Given the description of an element on the screen output the (x, y) to click on. 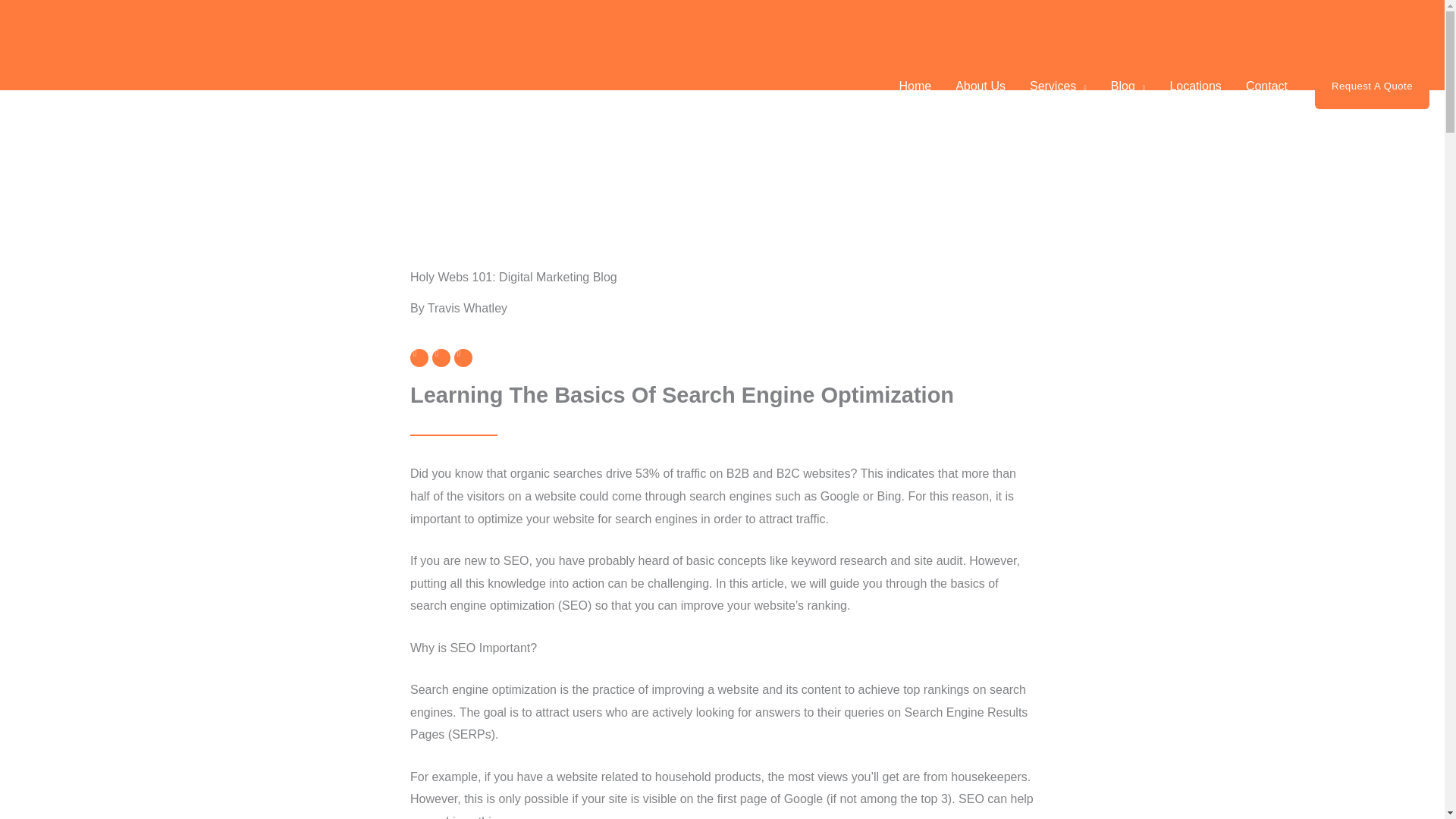
Contact (1266, 86)
Home (914, 86)
About Us (980, 86)
Services (1058, 86)
Blog (1128, 86)
Request A Quote (1371, 85)
Locations (1195, 86)
